Given the description of an element on the screen output the (x, y) to click on. 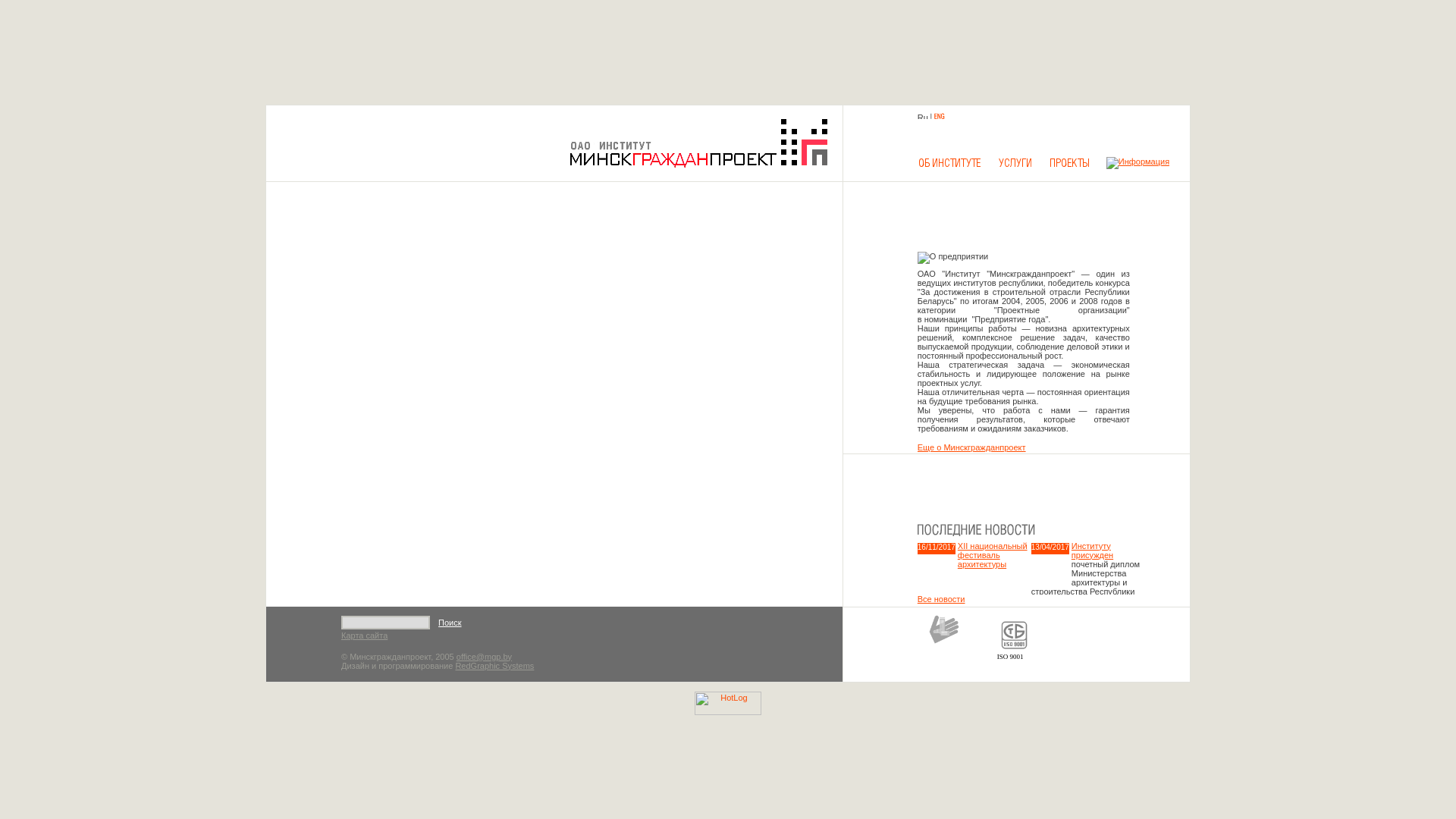
RedGraphic Systems Element type: text (494, 665)
ISO 9001 Element type: text (1010, 655)
office@mgp.by Element type: text (483, 656)
